Given the description of an element on the screen output the (x, y) to click on. 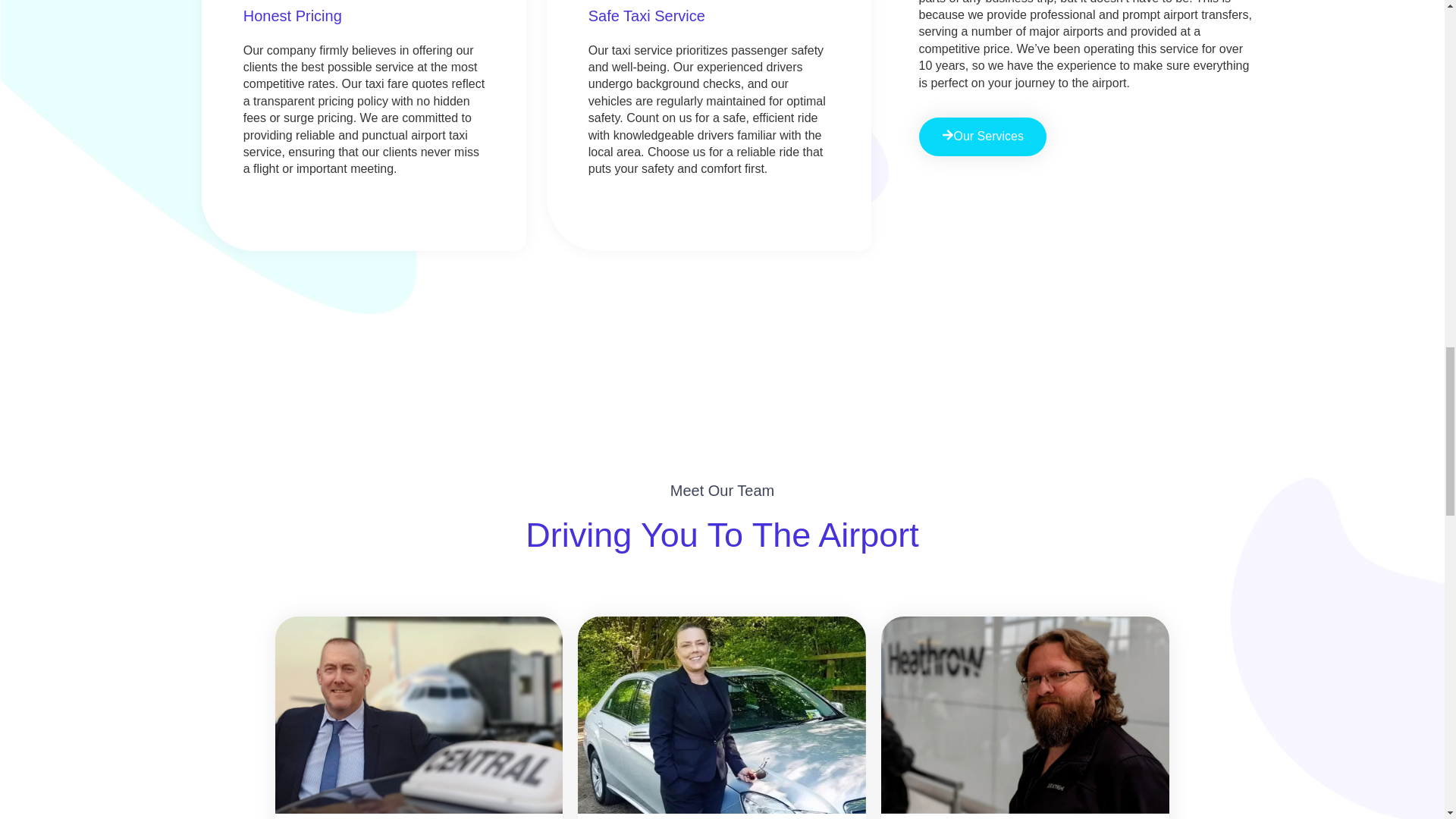
Our Services (982, 136)
